Given the description of an element on the screen output the (x, y) to click on. 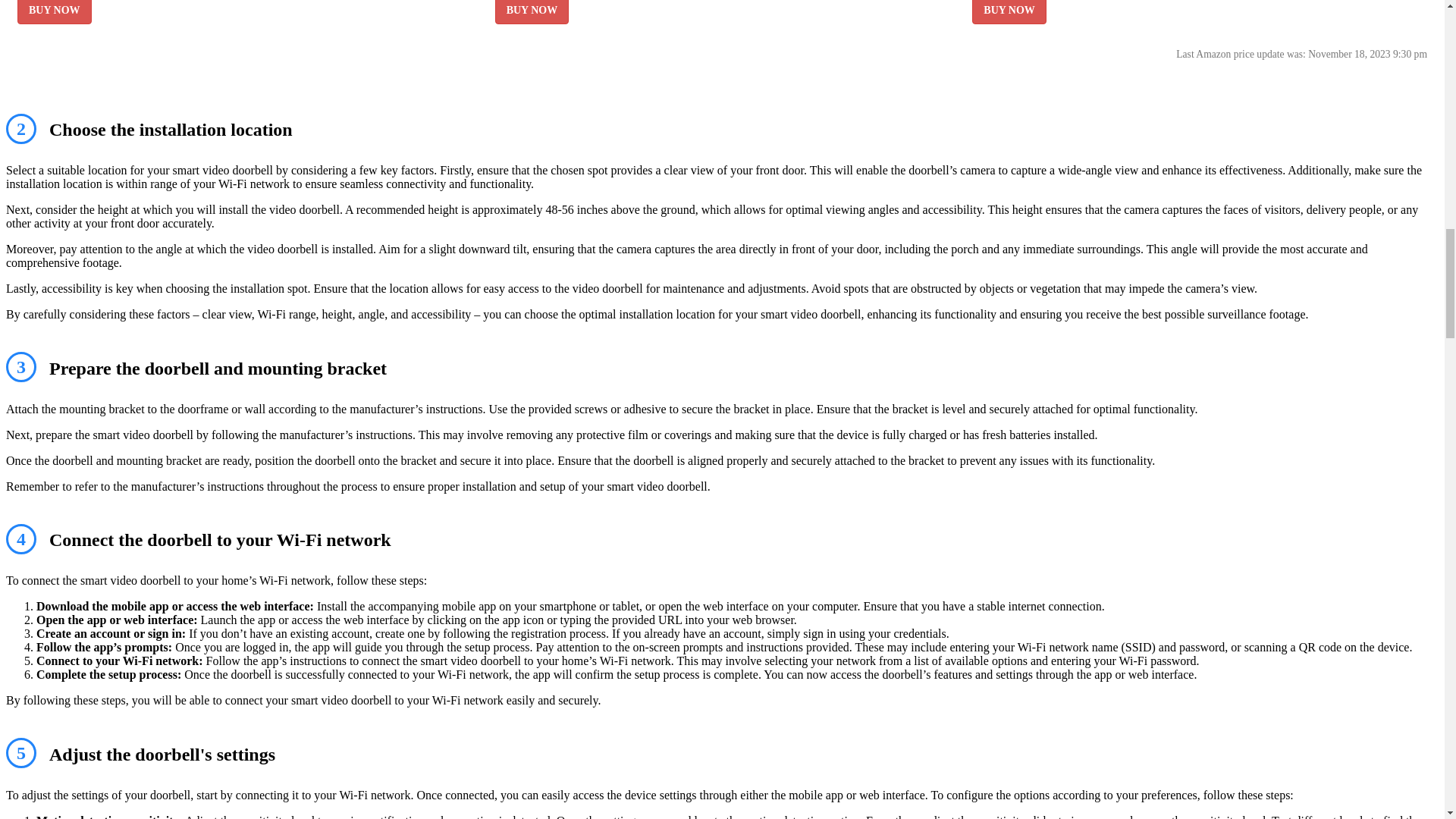
BUY NOW (54, 12)
BUY NOW (1009, 12)
BUY NOW (532, 12)
